Given the description of an element on the screen output the (x, y) to click on. 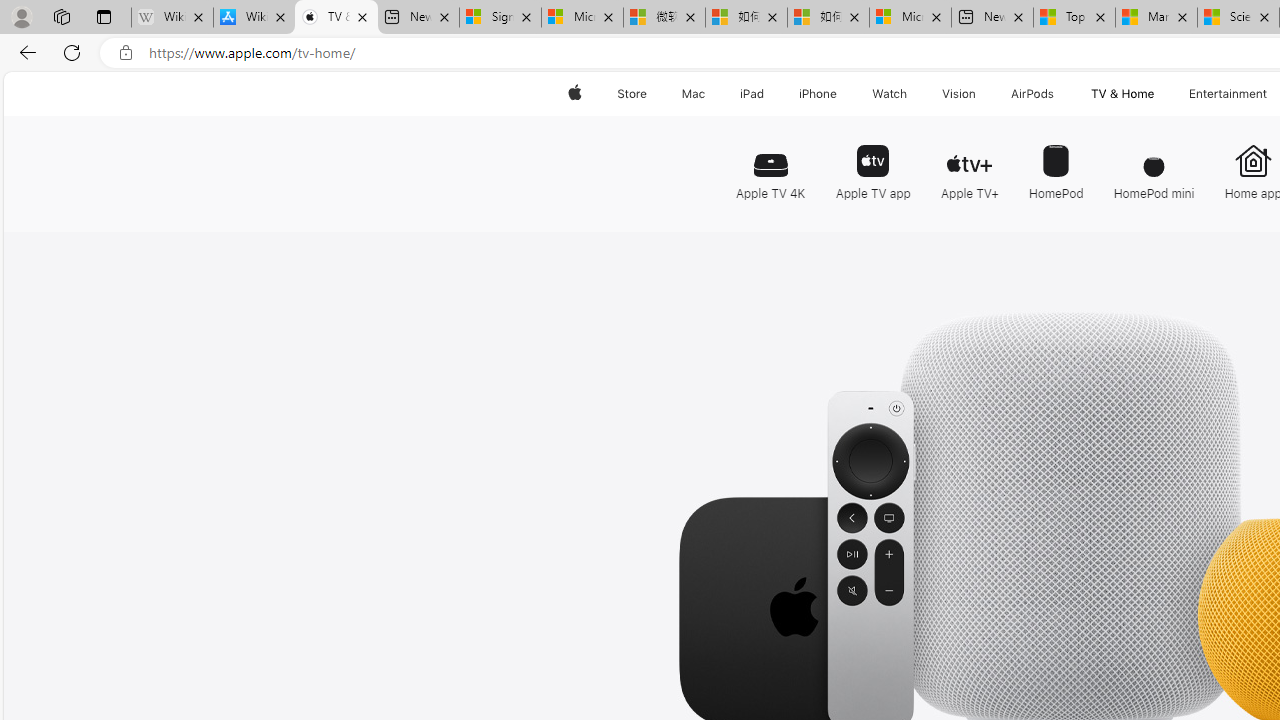
Watch menu (910, 93)
Mac (692, 93)
Marine life - MSN (1156, 17)
Watch (890, 93)
TV and Home (1122, 93)
Store menu (649, 93)
HomePod mini (1153, 162)
Entertainment (1227, 93)
iPhone (818, 93)
Microsoft Services Agreement (582, 17)
Mac menu (708, 93)
Top Stories - MSN (1074, 17)
